Given the description of an element on the screen output the (x, y) to click on. 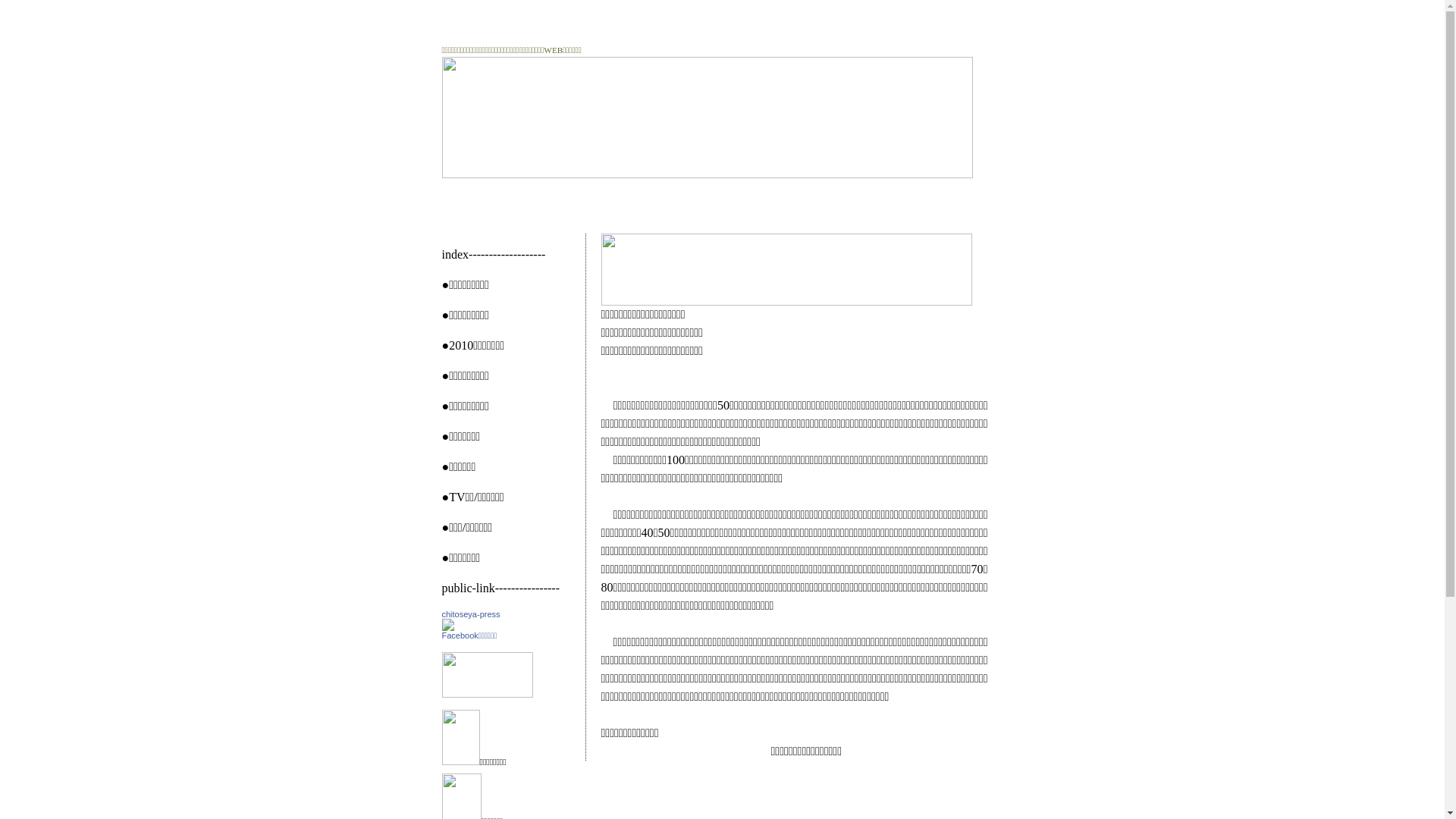
chitoseya-press Element type: text (470, 613)
chitoseya-press Element type: hover (447, 626)
index------------------- Element type: text (493, 253)
